Given the description of an element on the screen output the (x, y) to click on. 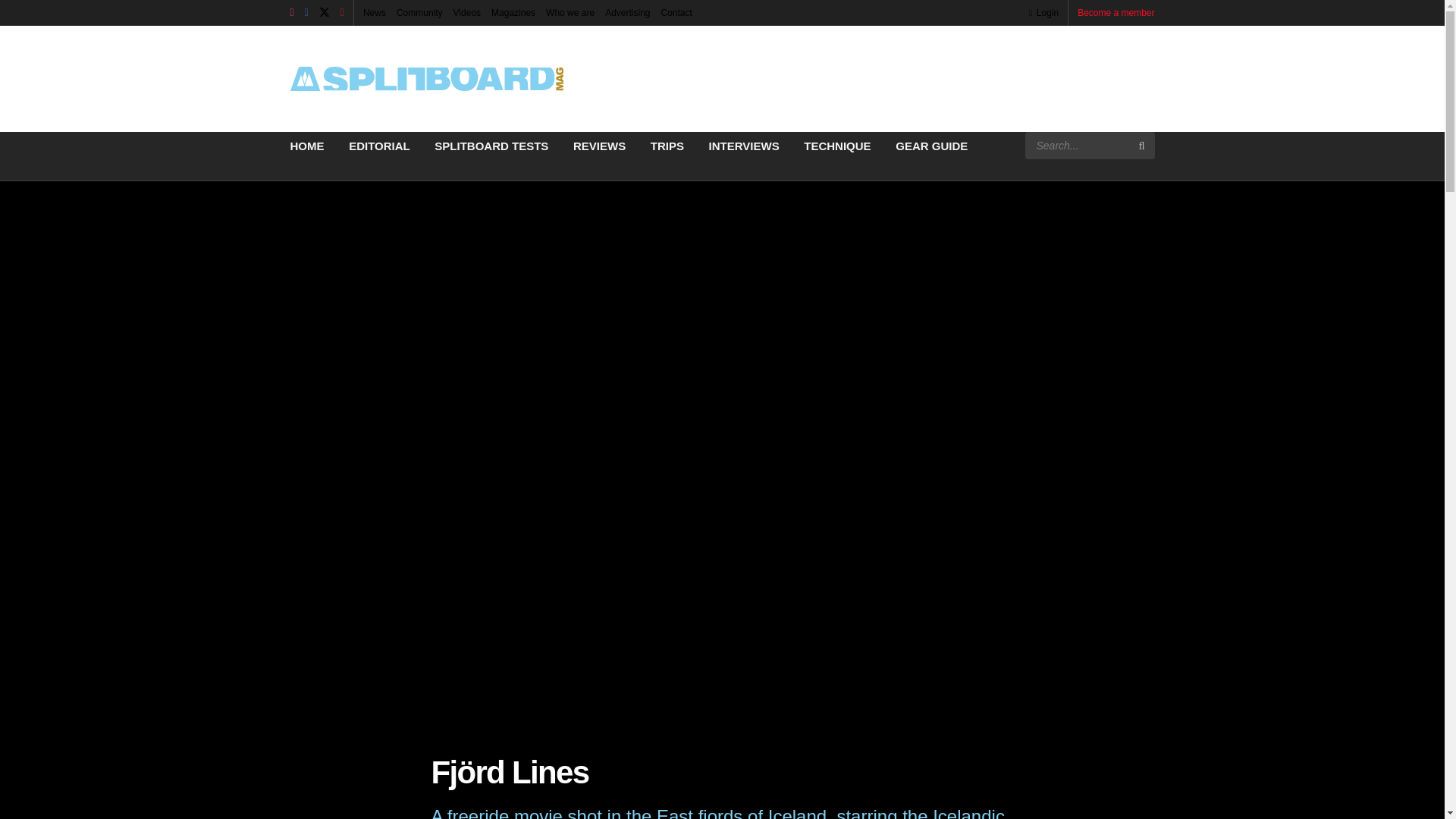
SPLITBOARD TESTS (490, 146)
INTERVIEWS (743, 146)
TRIPS (667, 146)
TECHNIQUE (836, 146)
Community (419, 12)
Magazines (513, 12)
REVIEWS (599, 146)
Login (1043, 12)
Videos (466, 12)
Become a member (1115, 12)
